Given the description of an element on the screen output the (x, y) to click on. 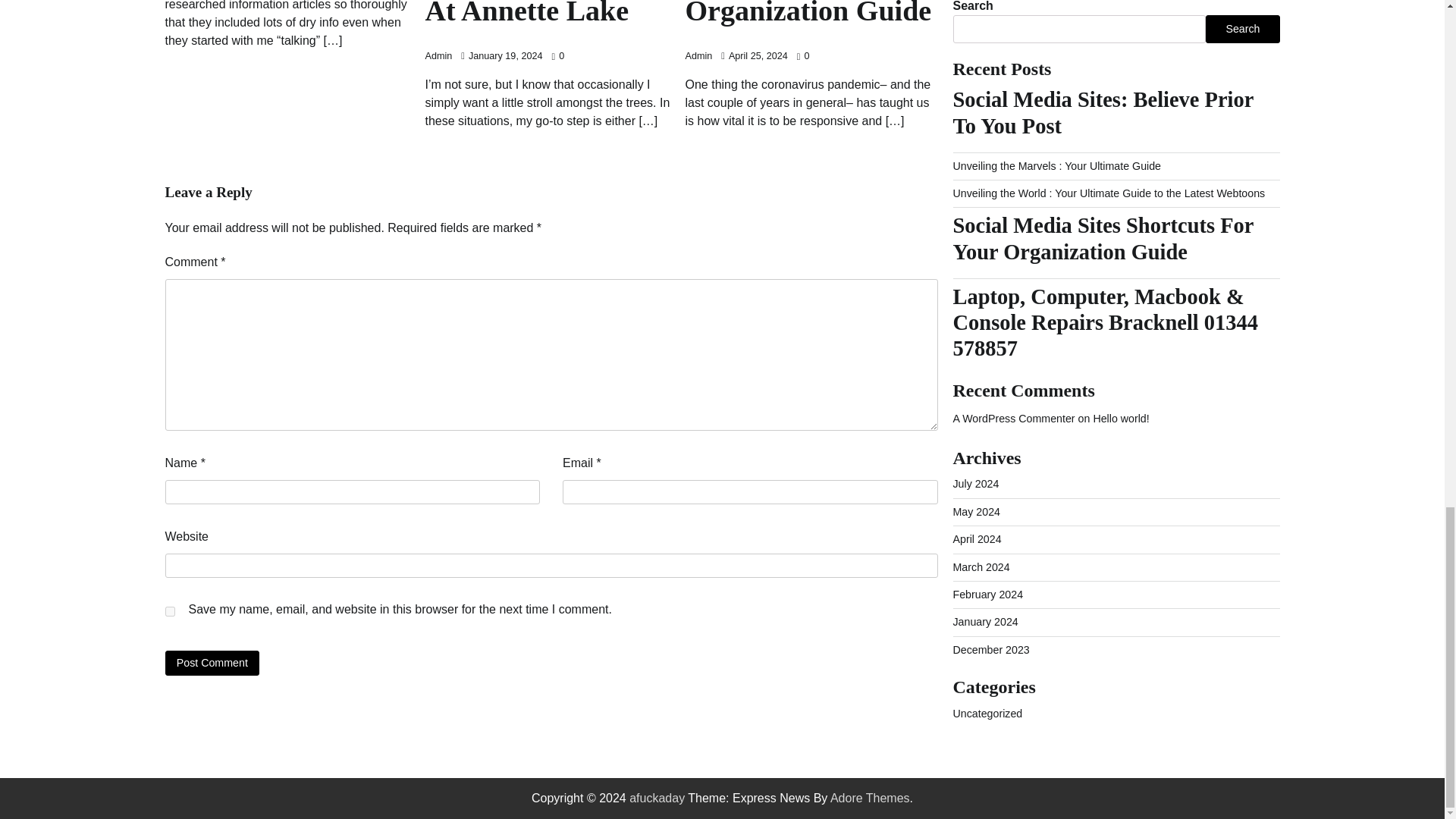
Admin (699, 55)
Social Media Sites Shortcuts For Your Organization Guide (811, 15)
Admin (438, 55)
Post Comment (212, 662)
yes (169, 611)
Post Comment (212, 662)
How To Coax Brand-new Hikers At Annette Lake (551, 15)
